Given the description of an element on the screen output the (x, y) to click on. 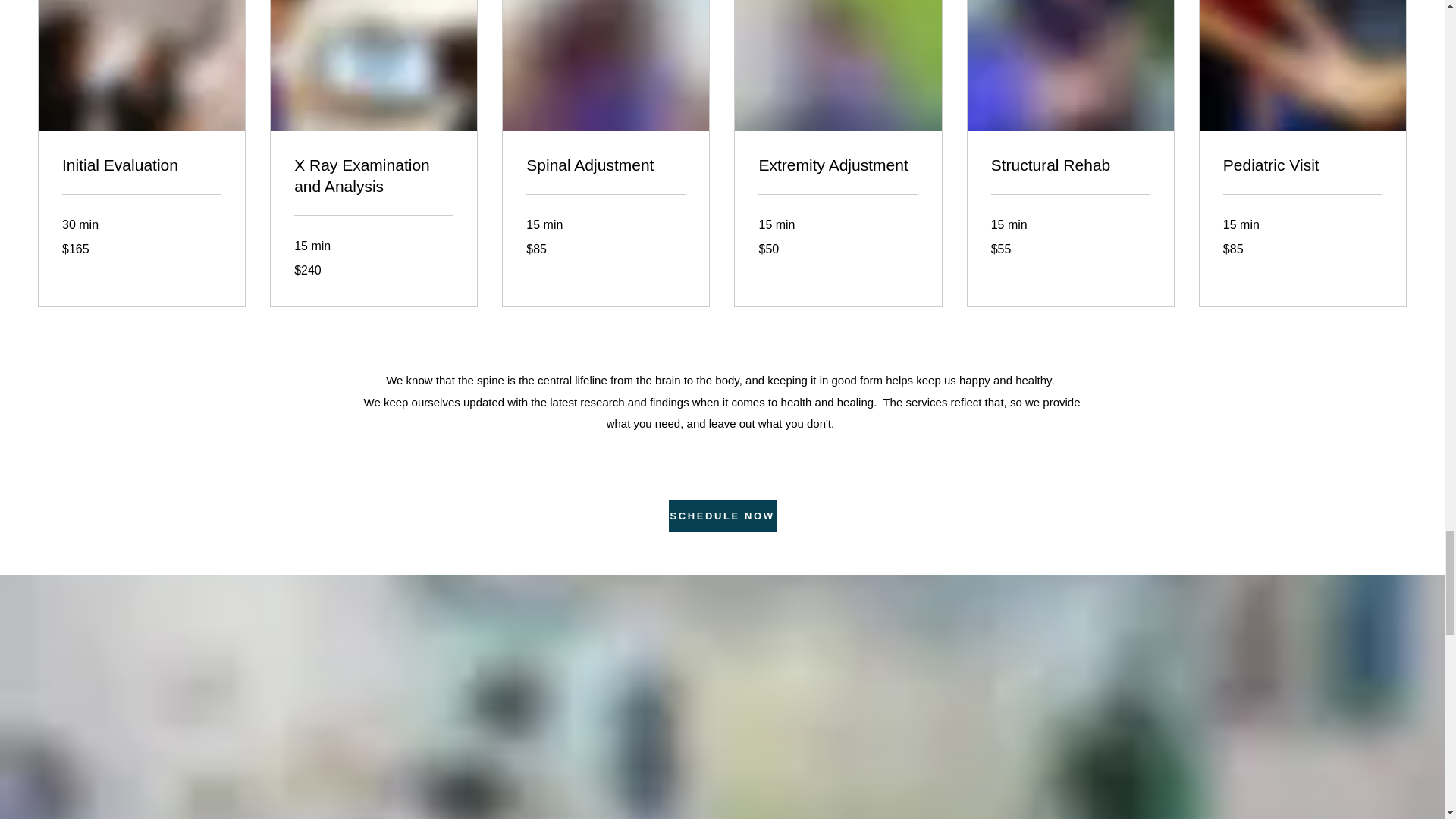
Extremity Adjustment (837, 165)
Pediatric Visit (1302, 165)
SCHEDULE NOW (722, 515)
X Ray Examination and Analysis (373, 176)
Initial Evaluation (141, 165)
Spinal Adjustment (605, 165)
Structural Rehab (1070, 165)
